Given the description of an element on the screen output the (x, y) to click on. 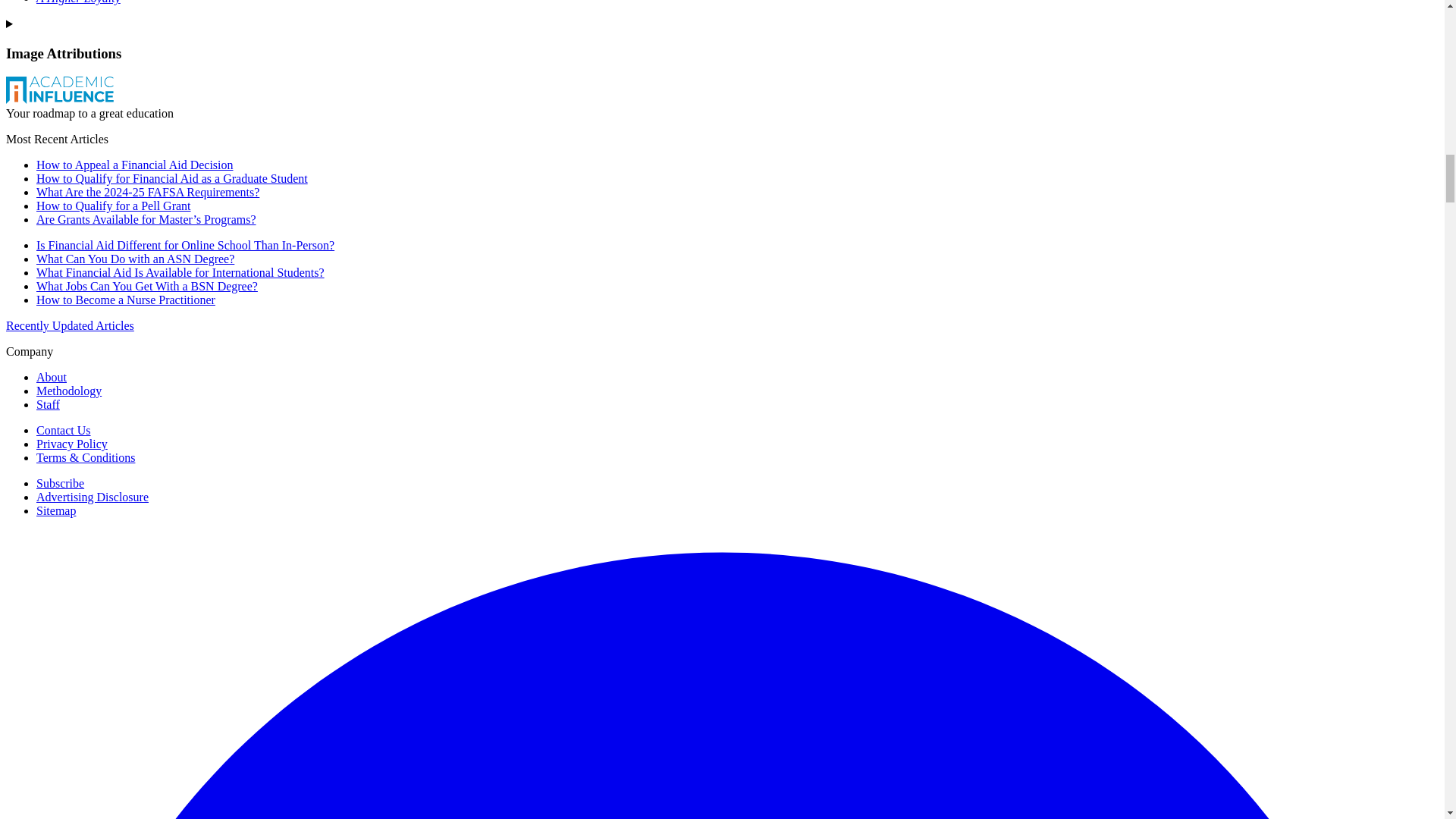
What Can You Do with an ASN Degree? (135, 258)
How to Become a Nurse Practitioner (125, 299)
How to Appeal a Financial Aid Decision (134, 164)
Recently Updated Articles (69, 325)
Staff (47, 404)
Is Financial Aid Different for Online School Than In-Person? (185, 245)
About (51, 377)
Privacy Policy (71, 443)
Contact Us (63, 430)
What Financial Aid Is Available for International Students? (180, 272)
Methodology (68, 390)
What Are the 2024-25 FAFSA Requirements? (147, 192)
How to Qualify for a Pell Grant (113, 205)
How to Qualify for Financial Aid as a Graduate Student (171, 178)
A Higher Loyalty (78, 2)
